Given the description of an element on the screen output the (x, y) to click on. 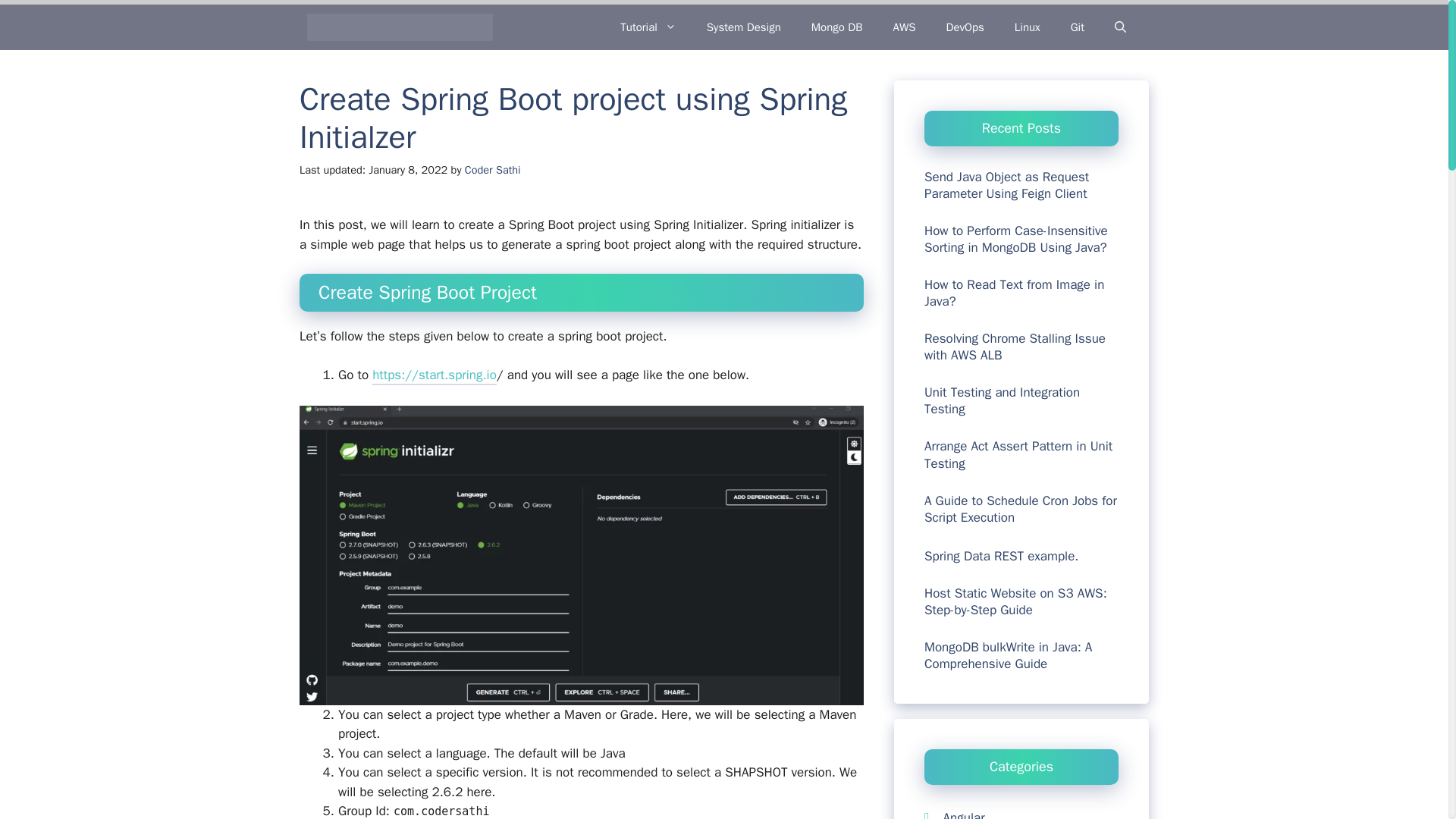
Tutorial (648, 26)
Linux (1026, 26)
AWS (904, 26)
Git (1077, 26)
DevOps (964, 26)
View all posts by Coder Sathi (492, 169)
System Design (743, 26)
CoderSathi (400, 26)
Coder Sathi (492, 169)
